Given the description of an element on the screen output the (x, y) to click on. 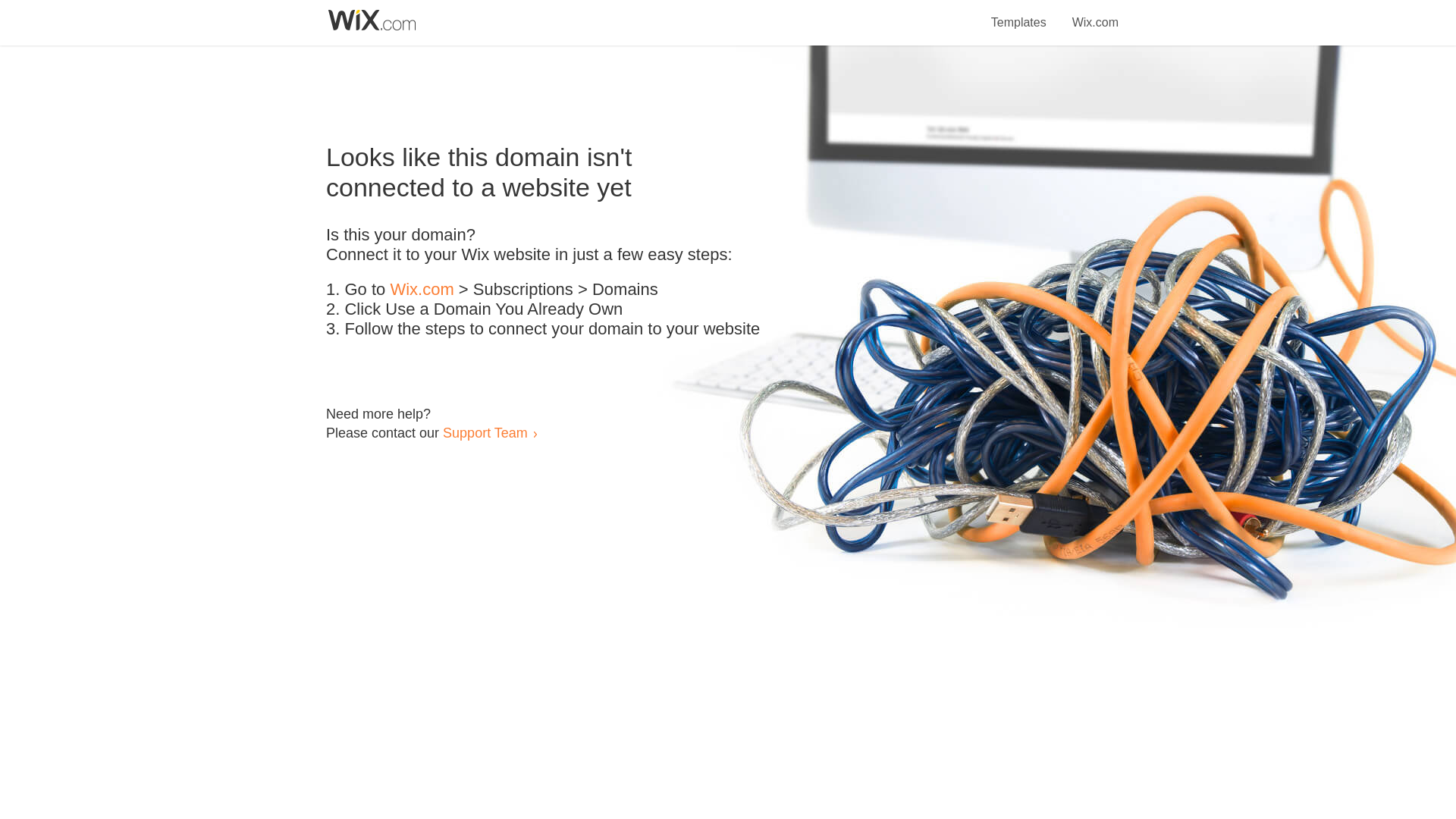
Support Team (484, 432)
Templates (1018, 14)
Wix.com (421, 289)
Wix.com (1095, 14)
